Given the description of an element on the screen output the (x, y) to click on. 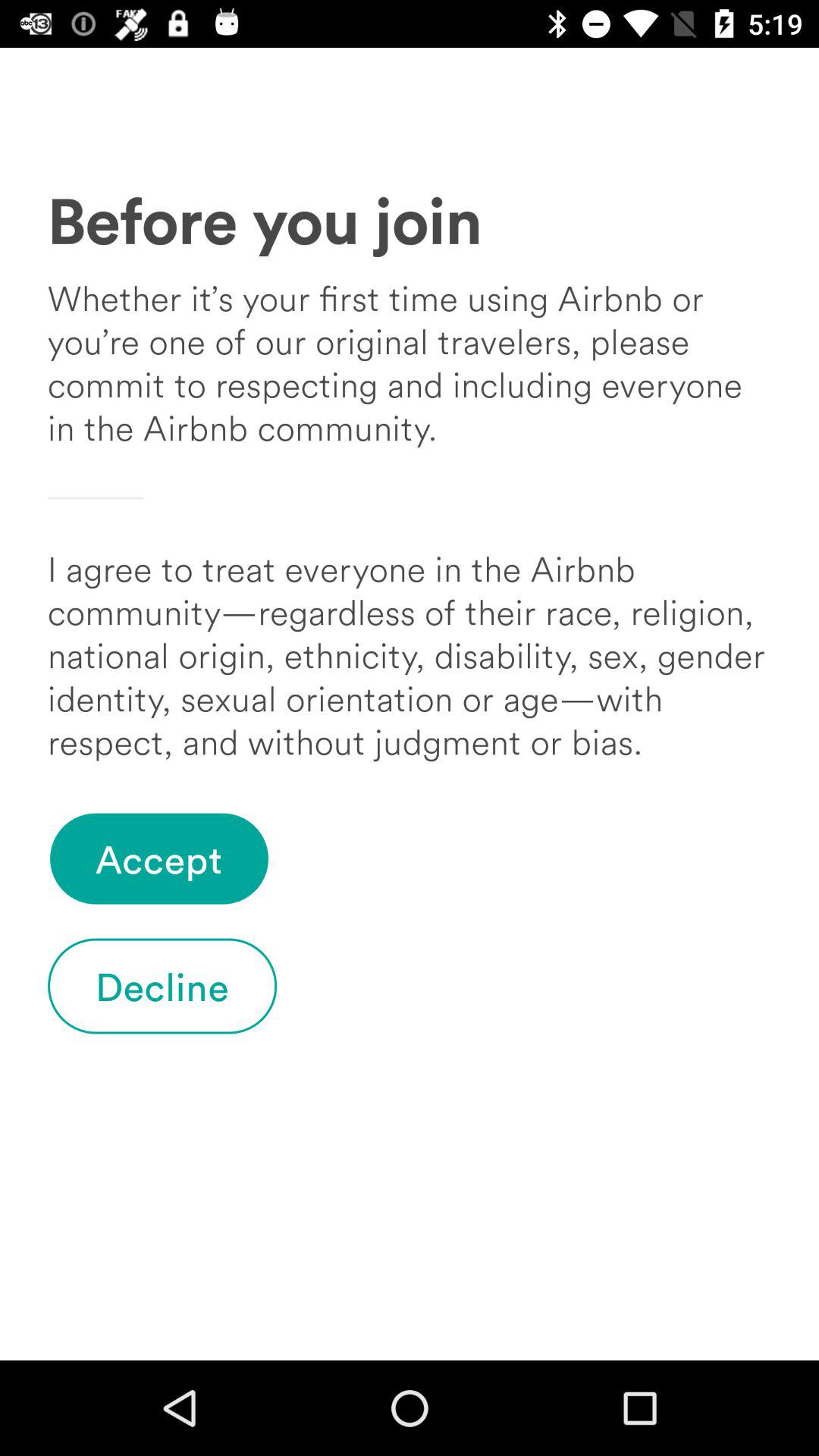
swipe until the accept item (158, 858)
